Given the description of an element on the screen output the (x, y) to click on. 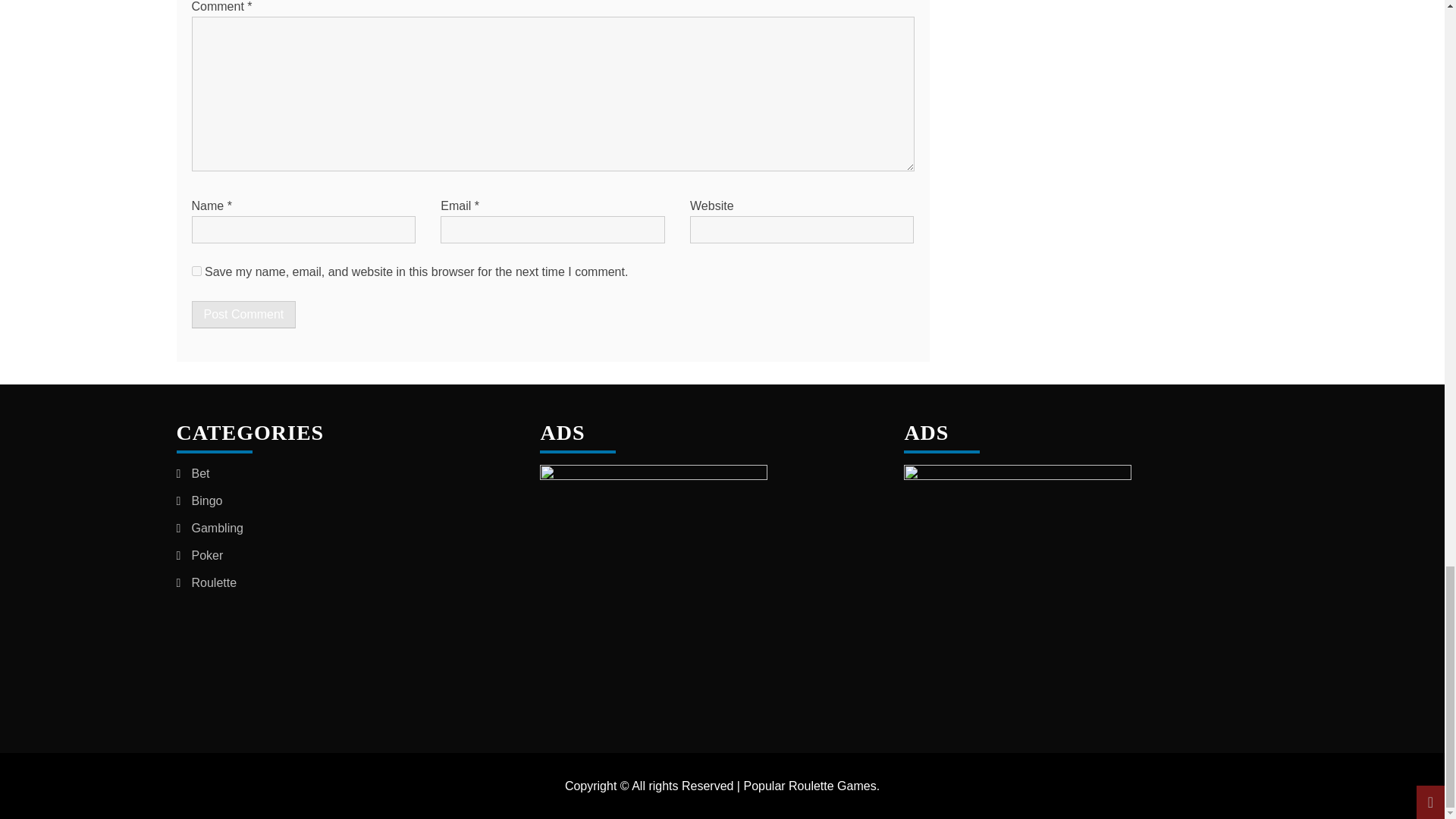
Post Comment (242, 314)
Post Comment (242, 314)
yes (195, 271)
